Given the description of an element on the screen output the (x, y) to click on. 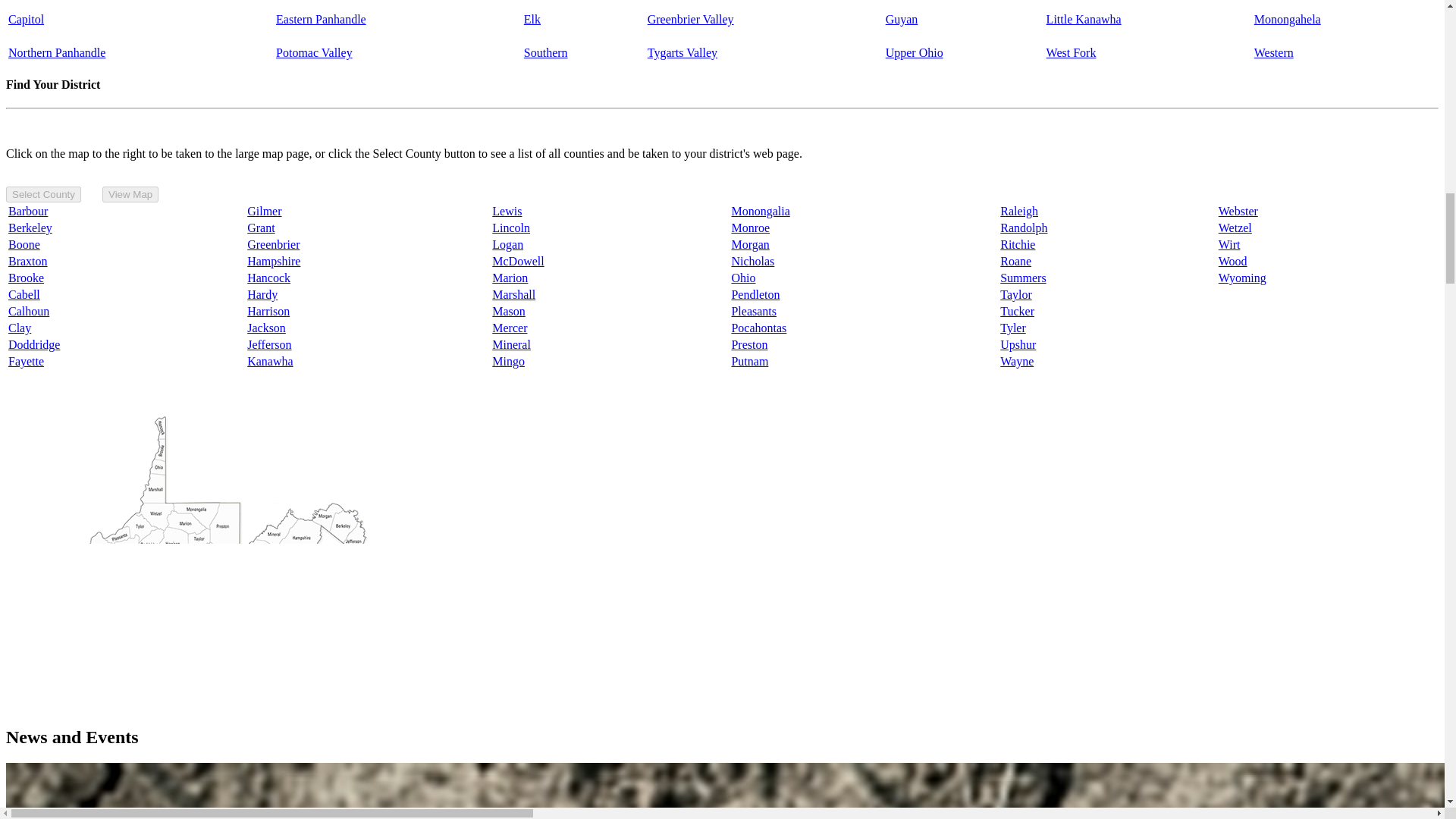
Serving Brooke, Hancock, Marshall, and Ohio counties (56, 51)
Serving Pleasants, Tyler, and Wetzel counties (914, 51)
Serving Doddridge, Gilmer, Harrison, and Lewis counties (1071, 51)
Serving Calhoun, Ritchie, Roane, Wirt, and Wood counties (1083, 19)
Serving Braxton, Clay, Nicholas, and Webster counties (532, 19)
Serving Kanawha County (25, 19)
Serving Berkeley, Jefferson, and Morgan counties (321, 19)
Serving Jackson, Mason, and Putnam counties (1273, 51)
Serving Greenbrier, Monroe, and Pocahontas counties (690, 19)
Serving Marion, Monongahalia, and Preston counties (1286, 19)
